Given the description of an element on the screen output the (x, y) to click on. 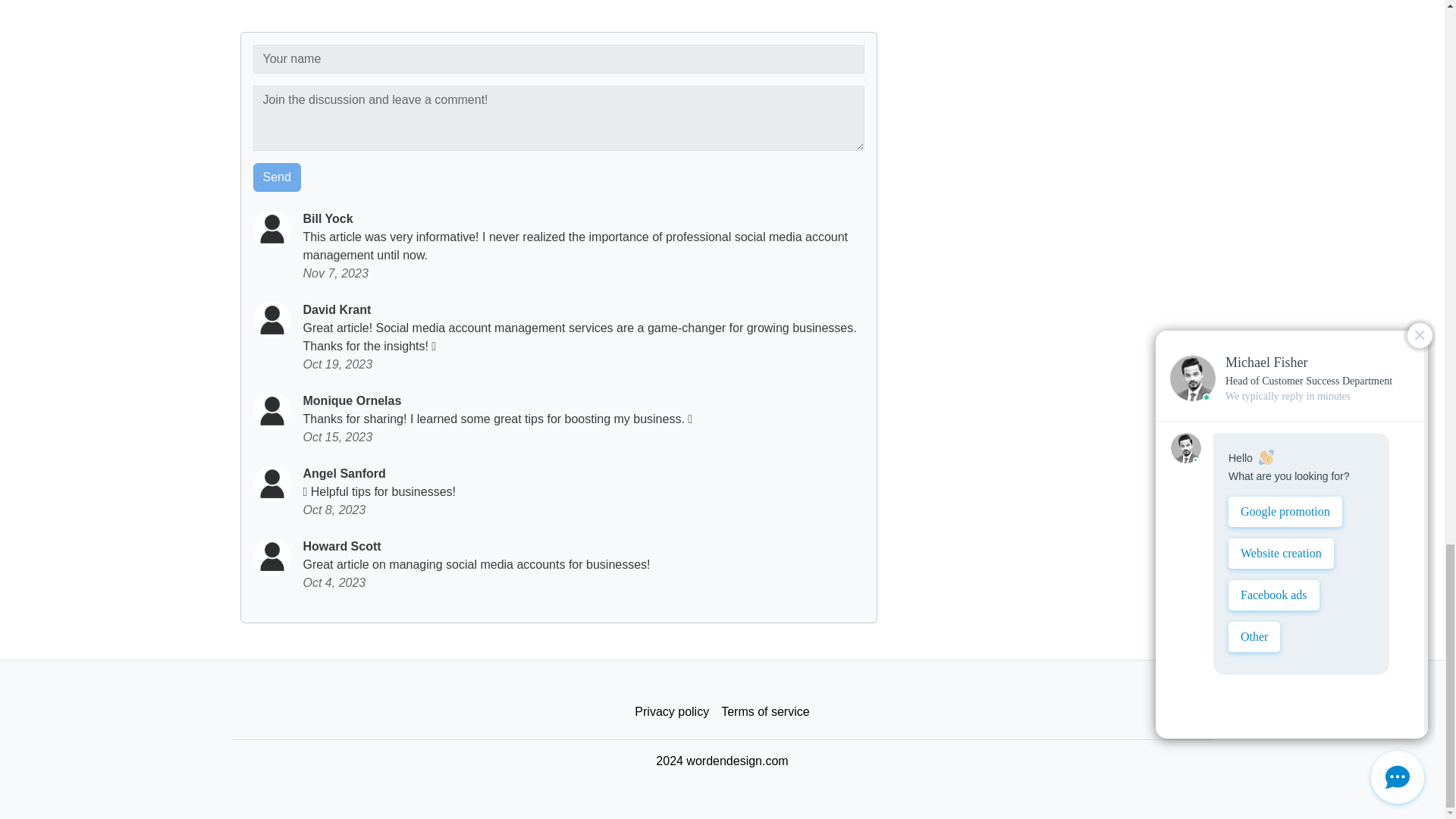
Privacy policy (671, 711)
Terms of service (764, 711)
Send (277, 176)
Send (277, 176)
